Given the description of an element on the screen output the (x, y) to click on. 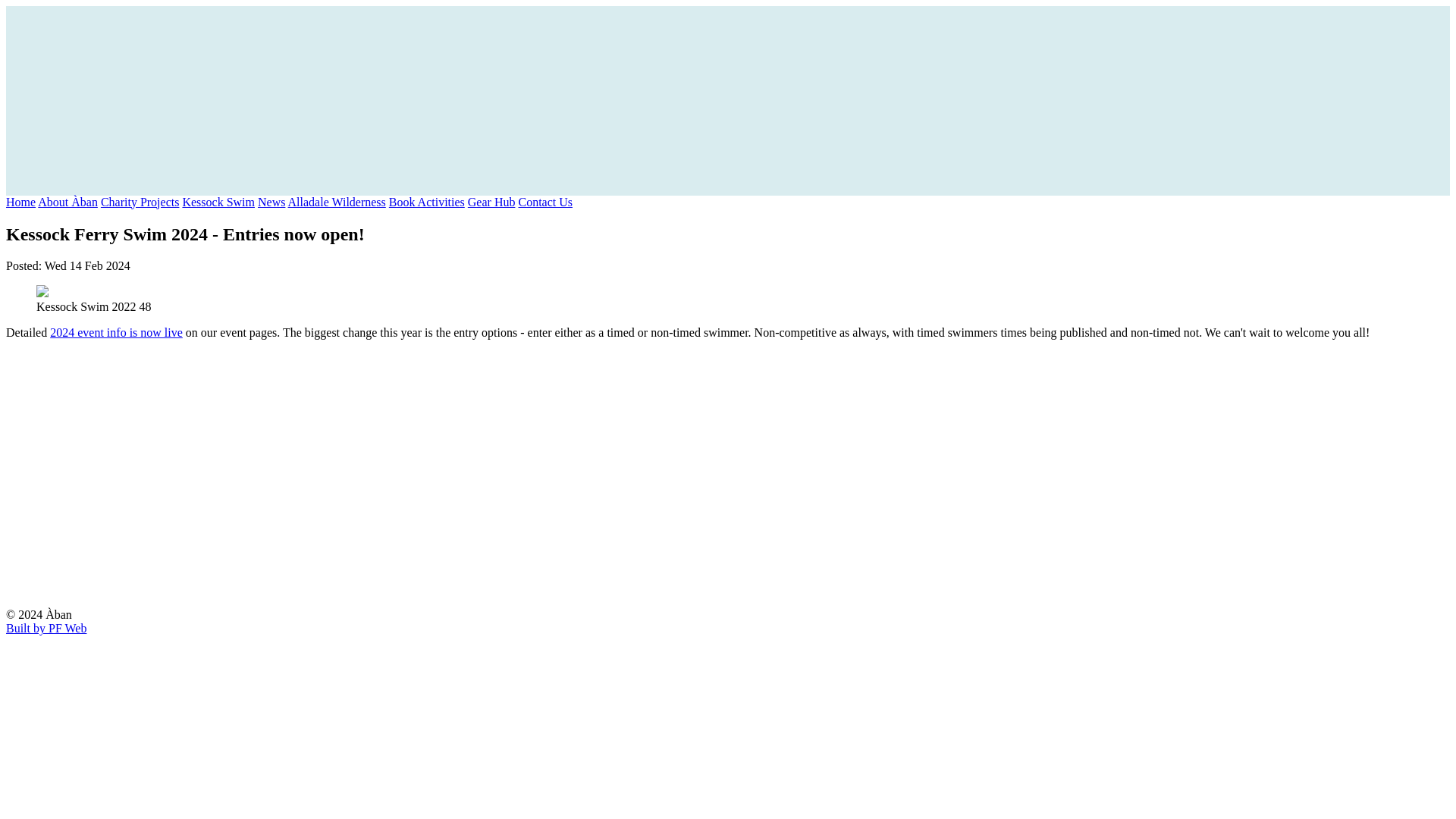
Gear Hub (491, 201)
Kessock Swim (218, 201)
News (271, 201)
YouTube video player (248, 472)
Home (19, 201)
Book Activities (426, 201)
Charity Projects (139, 201)
2024 event info is now live (116, 332)
Contact Us (545, 201)
Alladale Wilderness (336, 201)
